Given the description of an element on the screen output the (x, y) to click on. 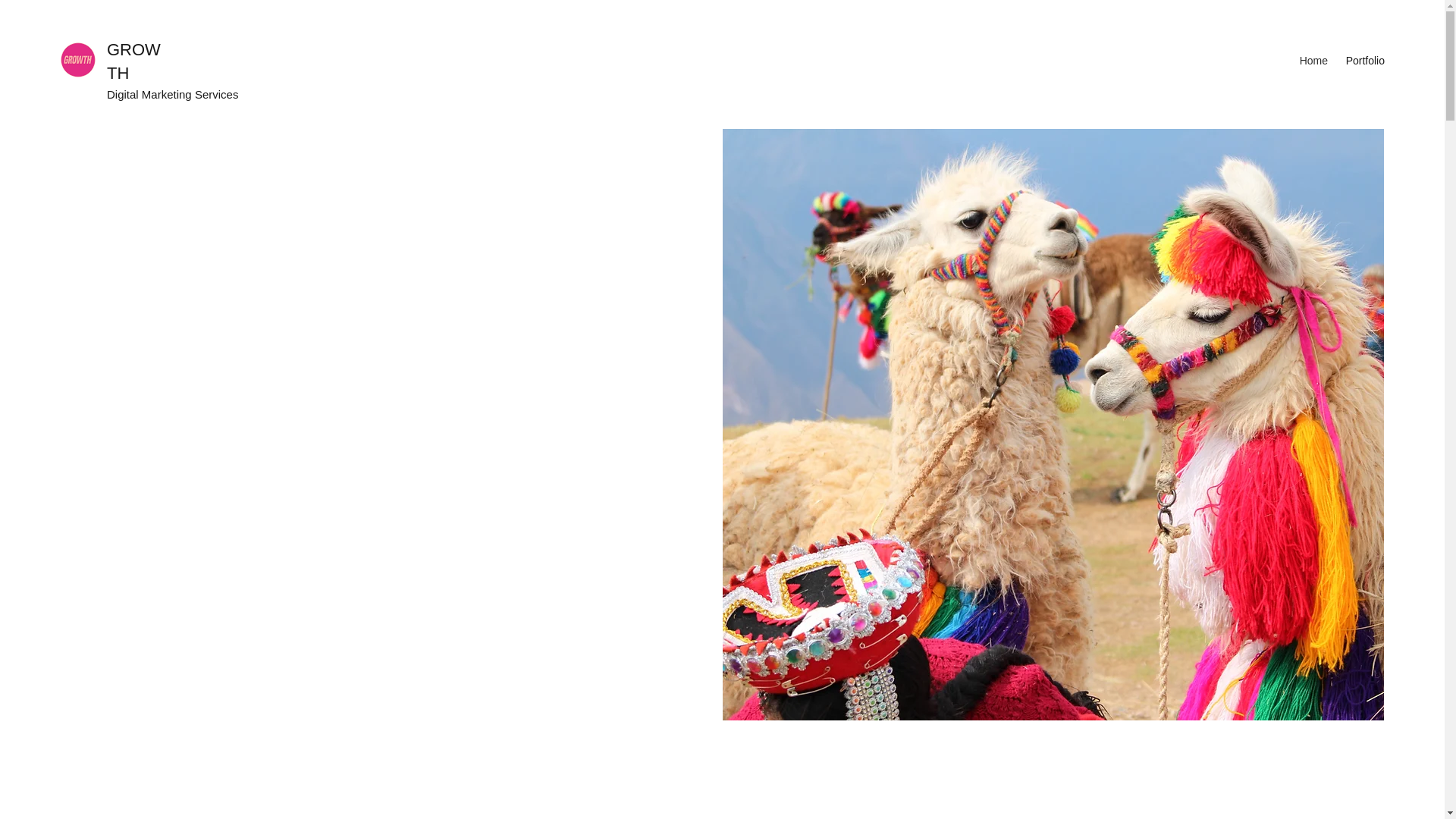
GROWTH  (133, 61)
Portfolio (1363, 60)
Home (1312, 60)
